Given the description of an element on the screen output the (x, y) to click on. 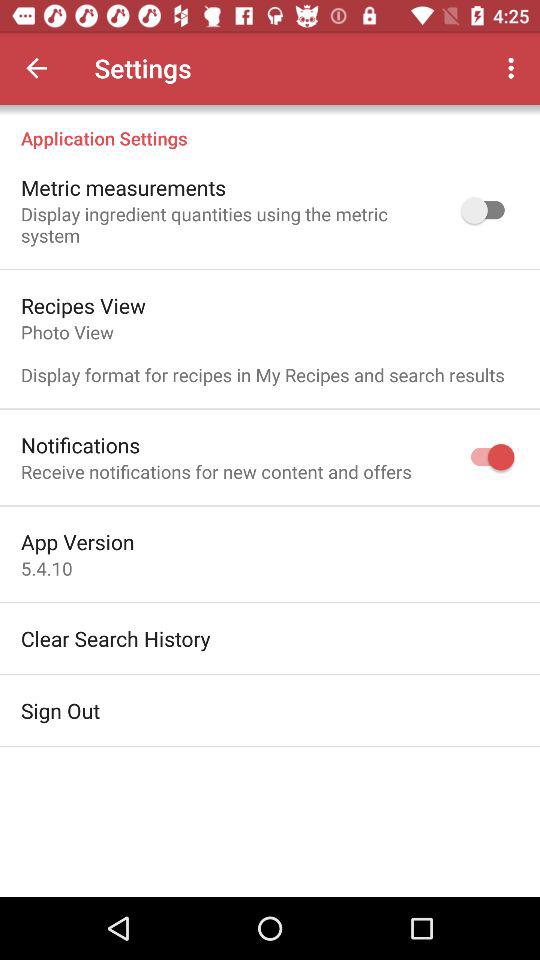
press receive notifications for icon (216, 471)
